Given the description of an element on the screen output the (x, y) to click on. 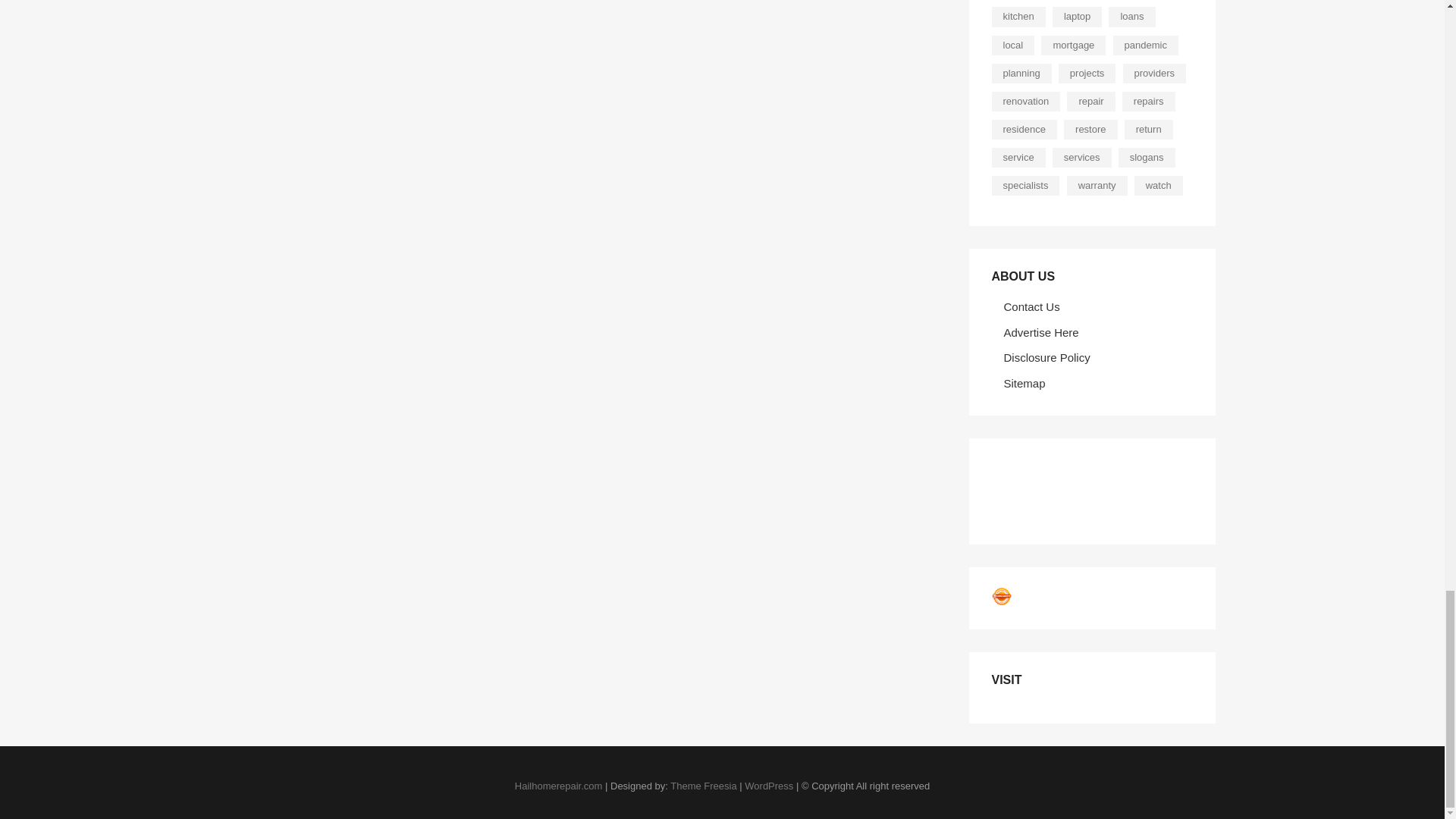
WordPress (768, 785)
Hailhomerepair.com (558, 785)
Seedbacklink (1001, 596)
Theme Freesia (702, 785)
